Given the description of an element on the screen output the (x, y) to click on. 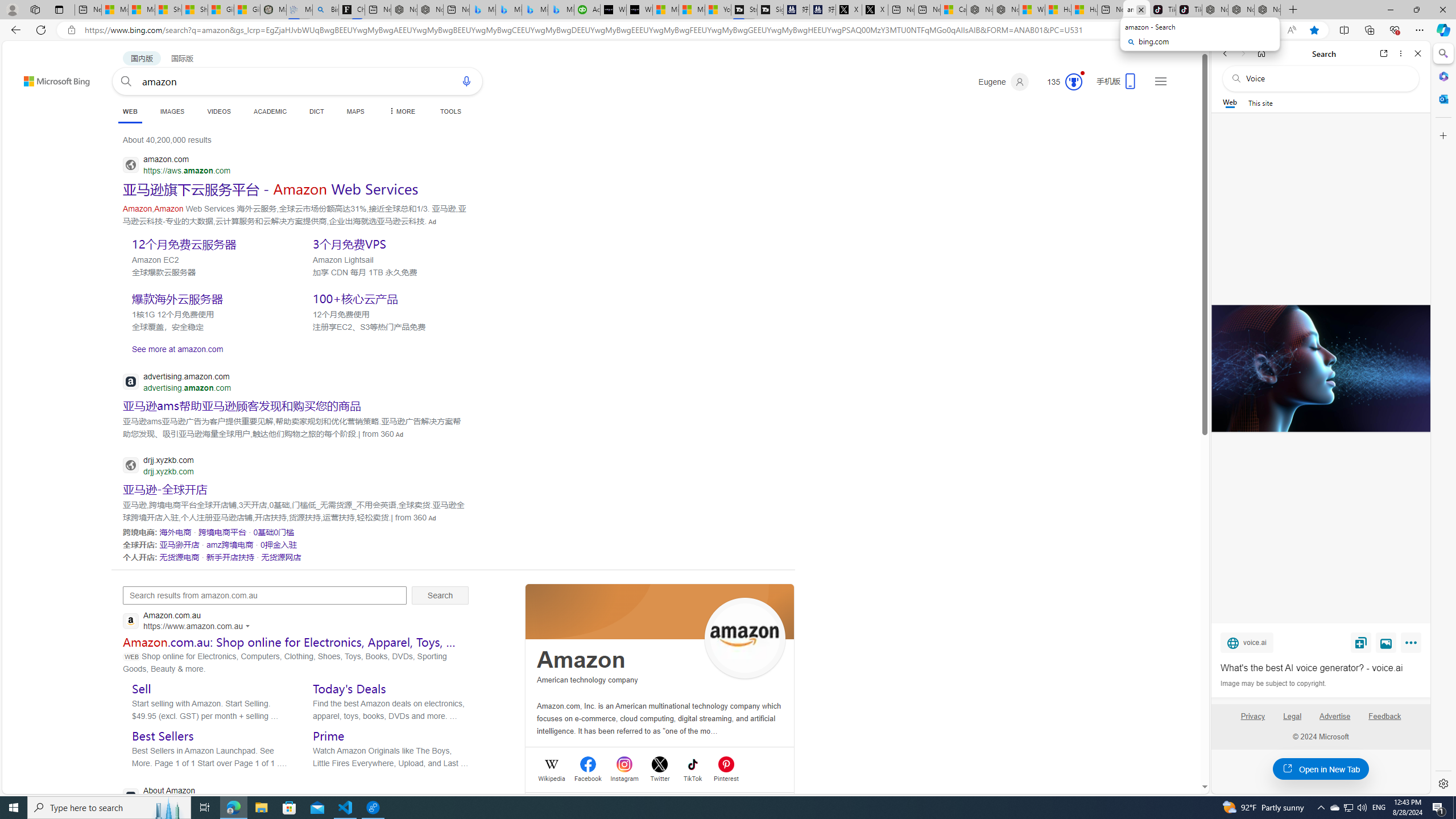
Microsoft Bing Travel - Shangri-La Hotel Bangkok (561, 9)
Eugene (1003, 81)
Chloe Sorvino (351, 9)
Home (1261, 53)
Image may be subject to copyright. (1273, 682)
Gilma and Hector both pose tropical trouble for Hawaii (246, 9)
TikTok (692, 777)
Bing Real Estate - Home sales and rental listings (325, 9)
VIDEOS (218, 111)
Search the web (1326, 78)
